Given the description of an element on the screen output the (x, y) to click on. 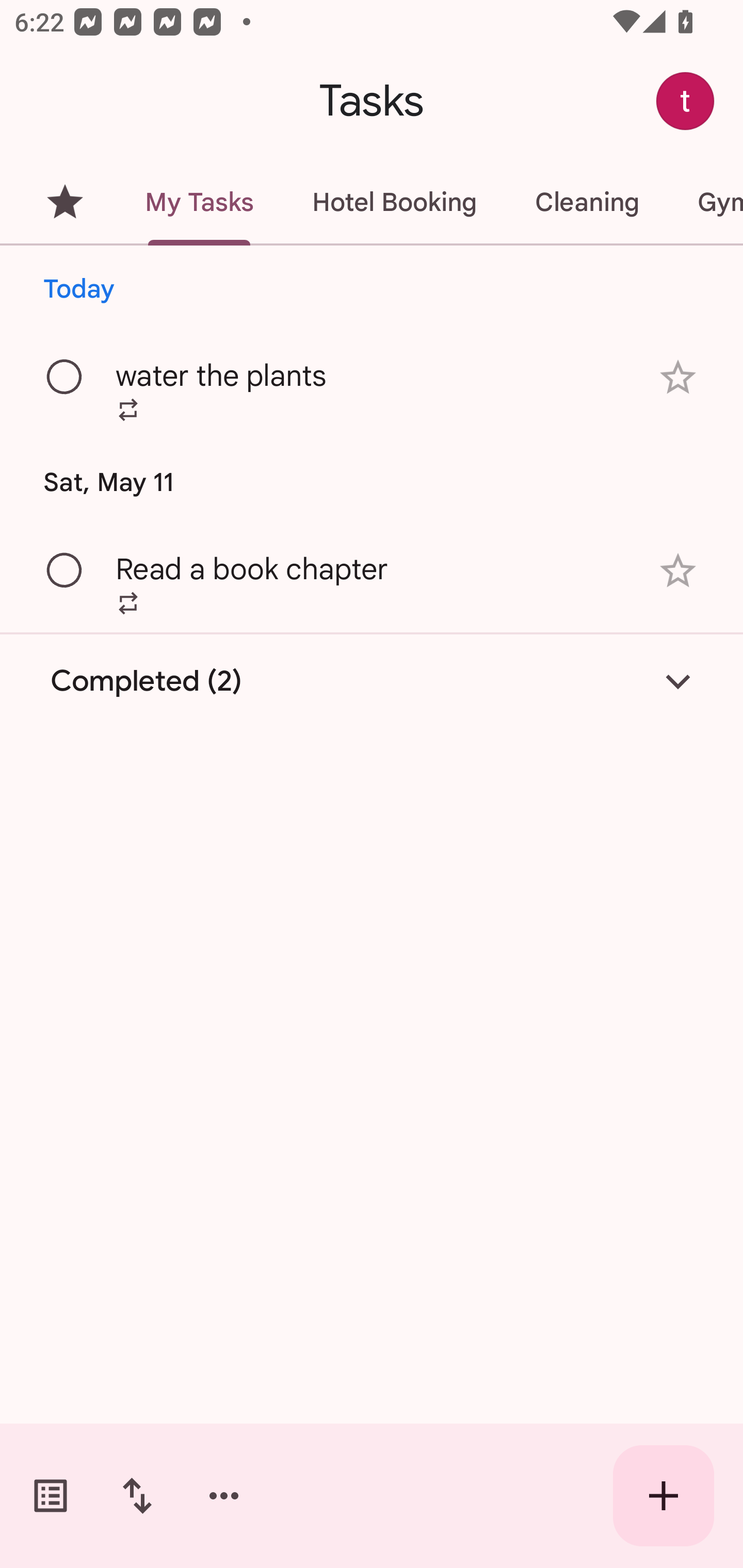
Starred (64, 202)
Hotel Booking (394, 202)
Cleaning (586, 202)
Add star (677, 376)
Mark as complete (64, 377)
Add star (677, 571)
Mark as complete (64, 570)
Completed (2) (371, 681)
Switch task lists (50, 1495)
Create new task (663, 1495)
Change sort order (136, 1495)
More options (223, 1495)
